Given the description of an element on the screen output the (x, y) to click on. 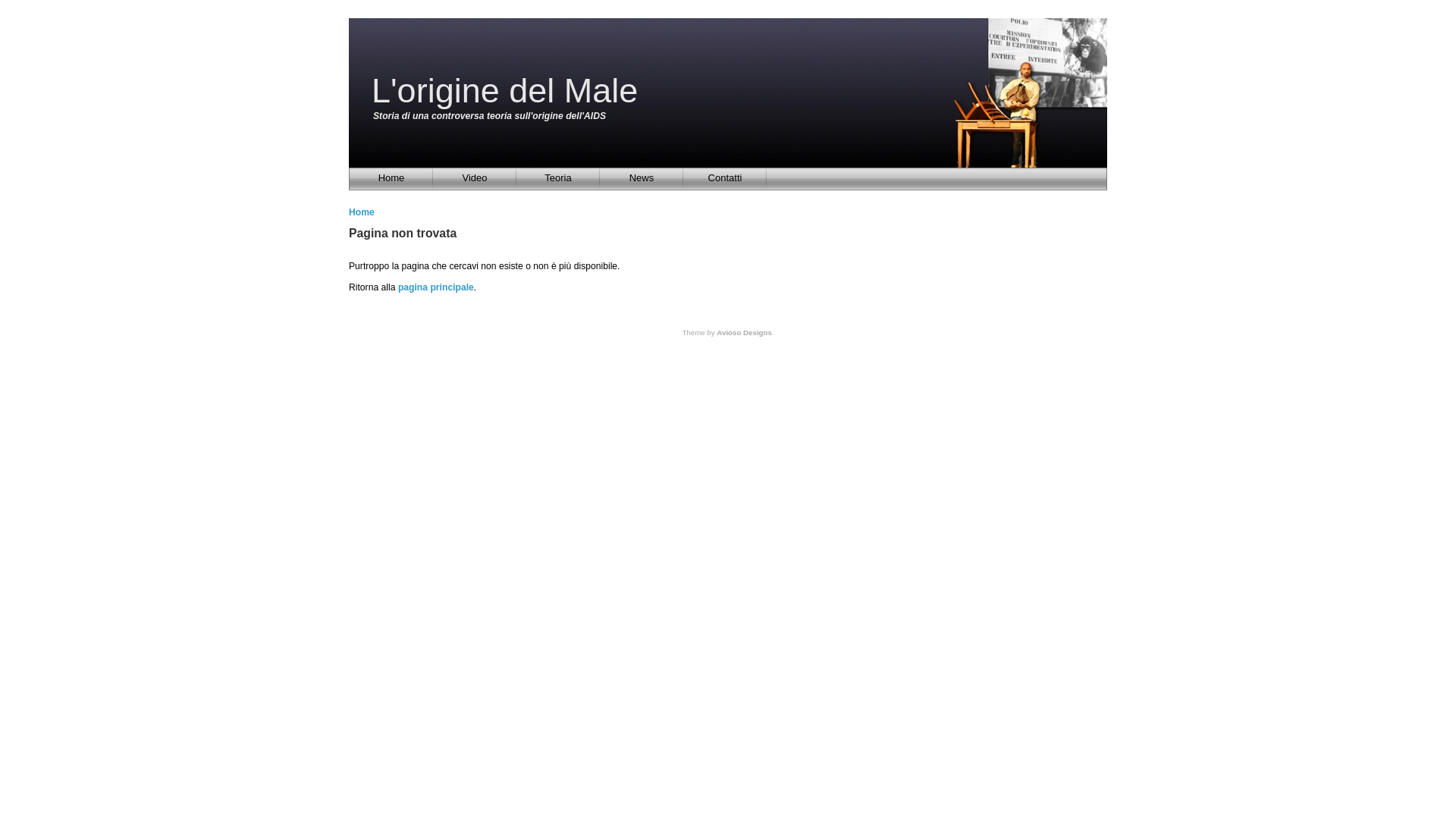
Avioso Designs Element type: text (743, 332)
Home Element type: text (361, 212)
L'origine del Male Element type: text (504, 90)
Video Element type: text (474, 177)
Home Element type: text (391, 177)
Contatti Element type: text (724, 177)
Teoria Element type: text (557, 177)
pagina principale Element type: text (435, 287)
News Element type: text (641, 177)
